Given the description of an element on the screen output the (x, y) to click on. 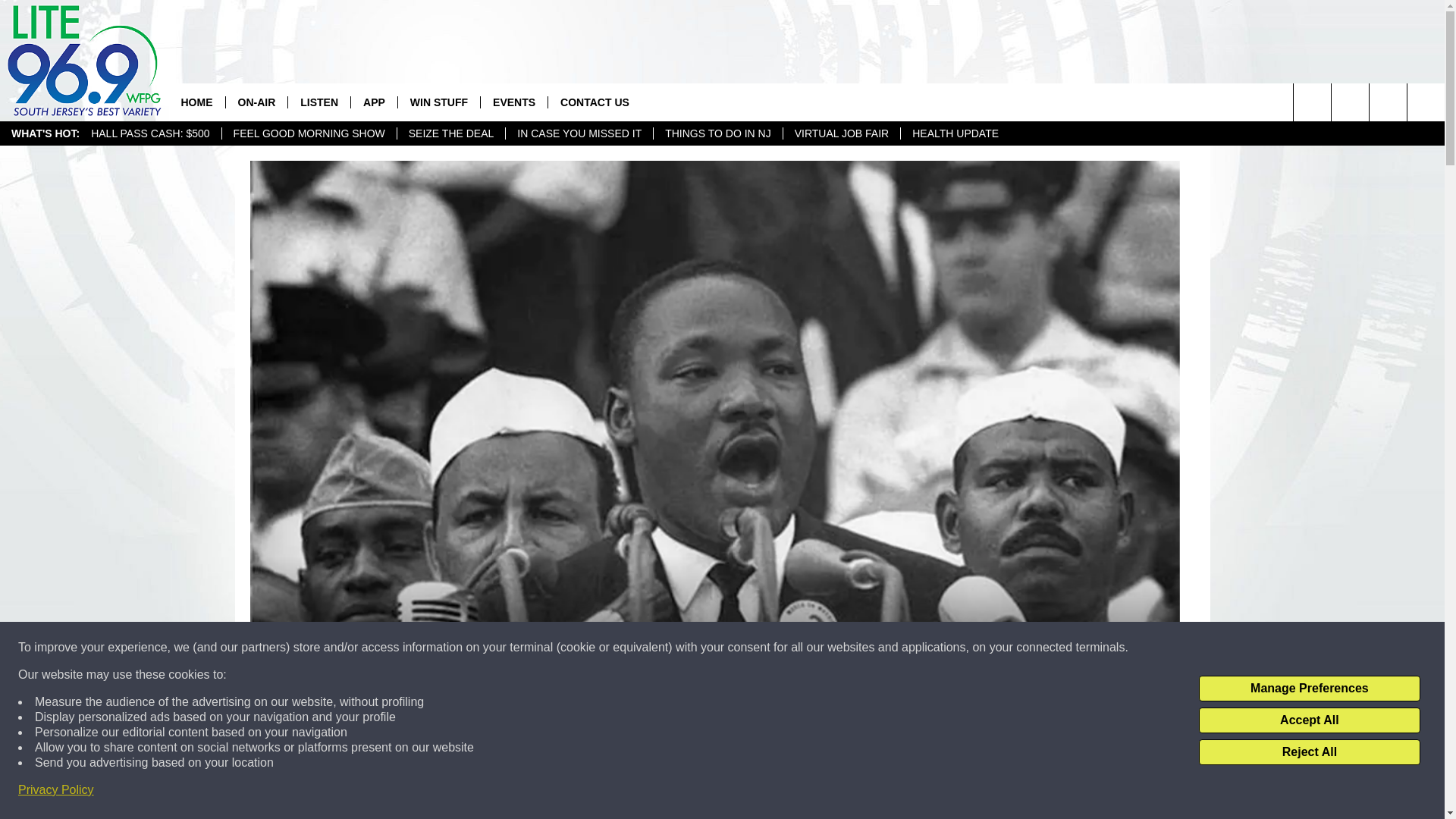
WIN STUFF (438, 102)
Manage Preferences (1309, 688)
THINGS TO DO IN NJ (717, 133)
IN CASE YOU MISSED IT (578, 133)
HEALTH UPDATE (954, 133)
ON-AIR (255, 102)
APP (373, 102)
Share on Facebook (517, 791)
Accept All (1309, 720)
LISTEN (318, 102)
SEIZE THE DEAL (450, 133)
HOME (196, 102)
Privacy Policy (55, 789)
Reject All (1309, 751)
FEEL GOOD MORNING SHOW (308, 133)
